Given the description of an element on the screen output the (x, y) to click on. 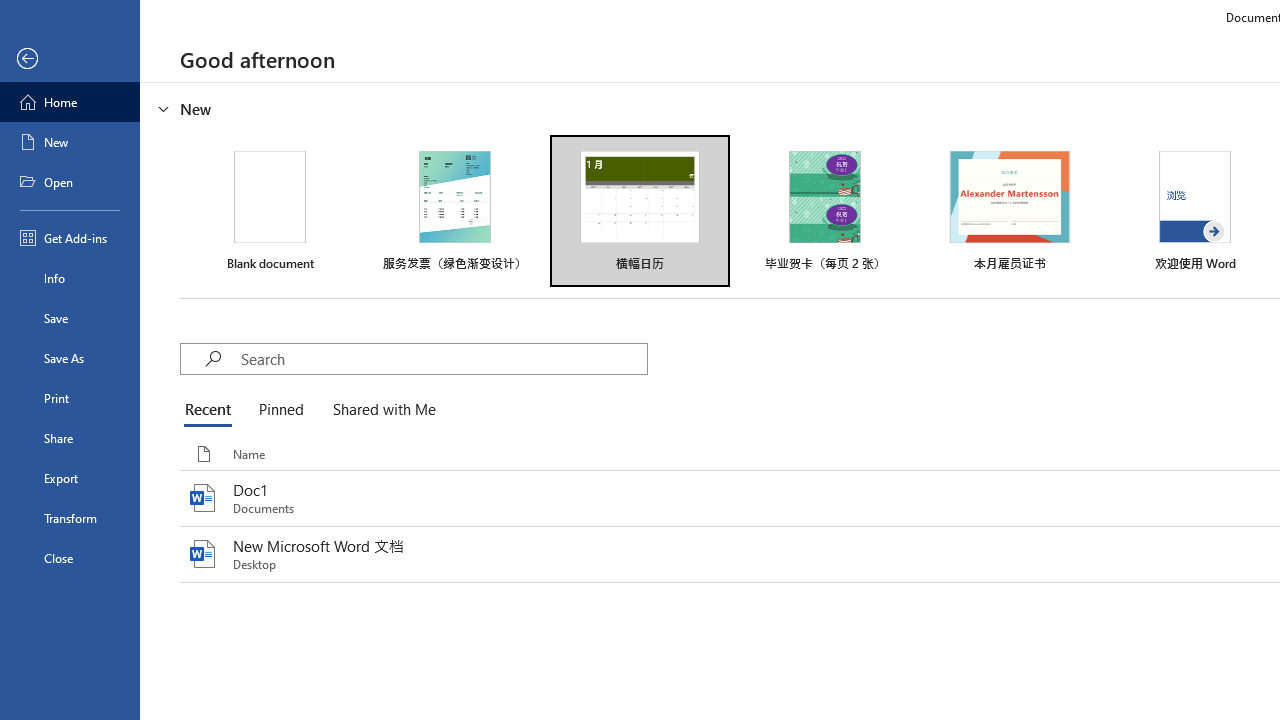
Save (69, 317)
Print (69, 398)
Back (69, 59)
Shared with Me (379, 410)
Recent (212, 410)
Home (69, 101)
Search (443, 358)
Transform (69, 517)
Save As (69, 357)
Hide or show region (164, 108)
Info (69, 277)
Blank document (269, 211)
